Given the description of an element on the screen output the (x, y) to click on. 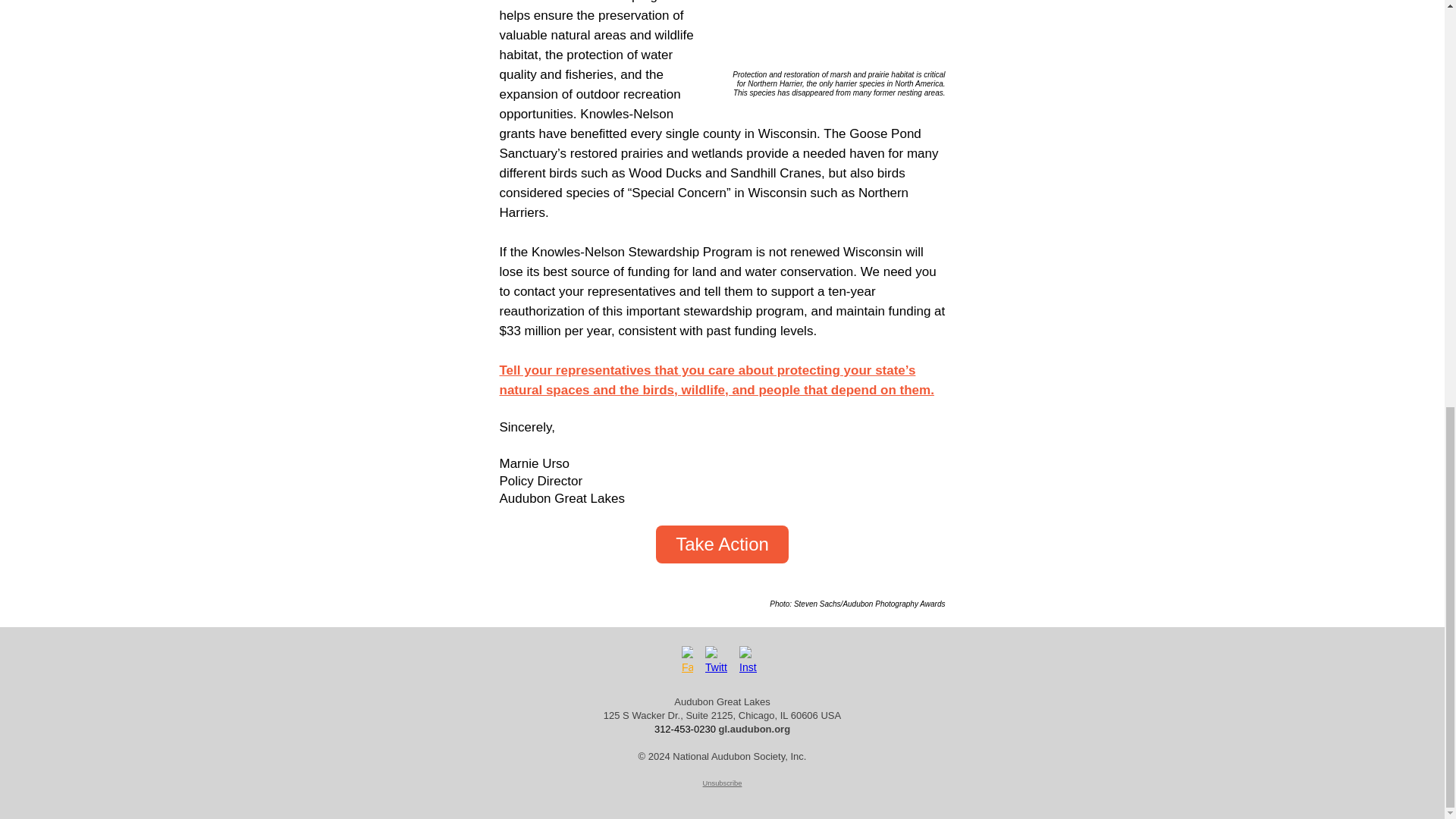
Take Action (722, 544)
Unsubscribe (722, 783)
gl.audubon.org (754, 728)
312-453-0230 (684, 728)
